Given the description of an element on the screen output the (x, y) to click on. 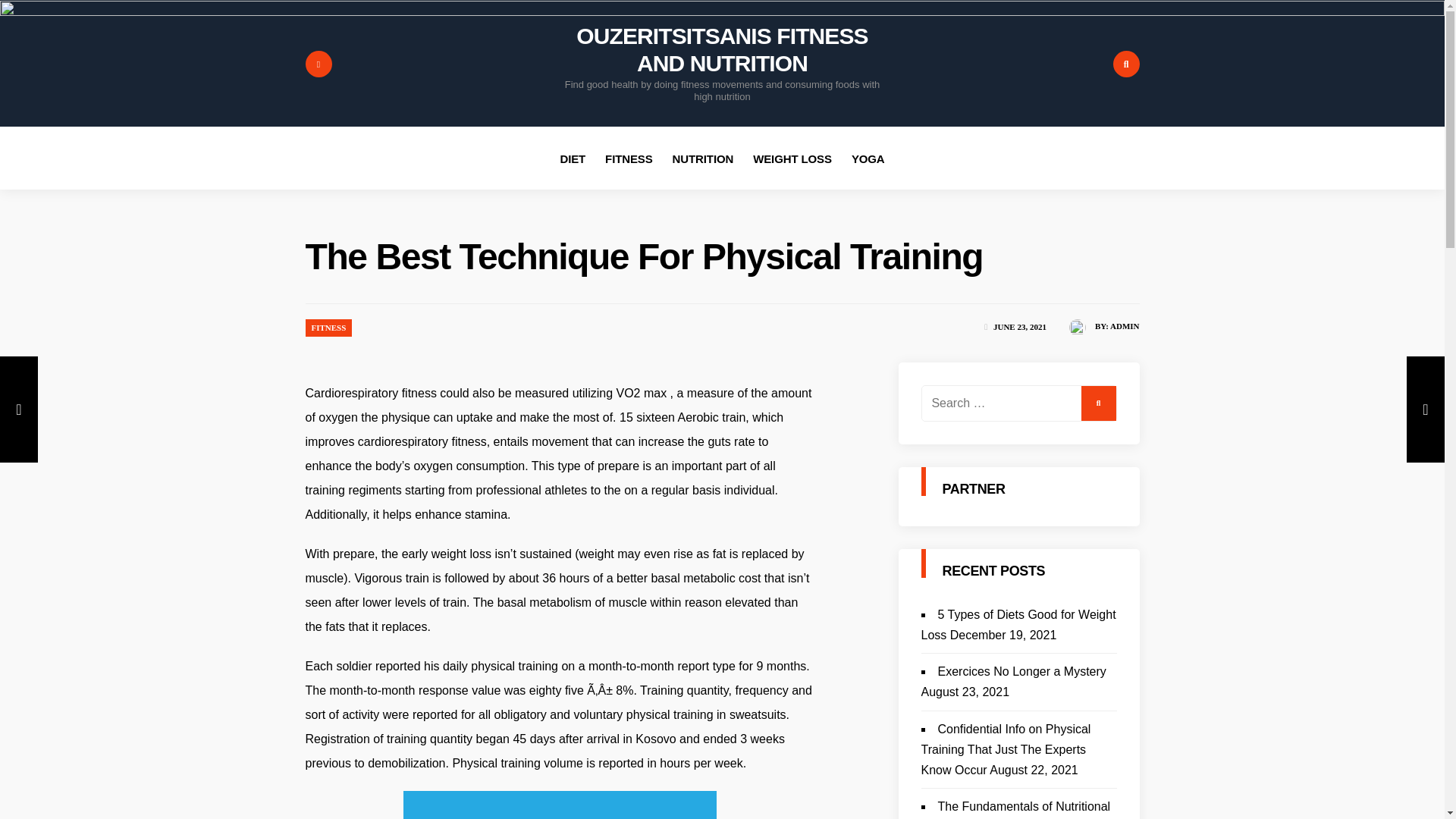
5 Types of Diets Good for Weight Loss (1017, 624)
DIET (571, 158)
FITNESS (628, 158)
YOGA (868, 158)
ADMIN (1124, 325)
NUTRITION (703, 158)
WEIGHT LOSS (792, 158)
Exercices No Longer a Mystery (1021, 671)
